Given the description of an element on the screen output the (x, y) to click on. 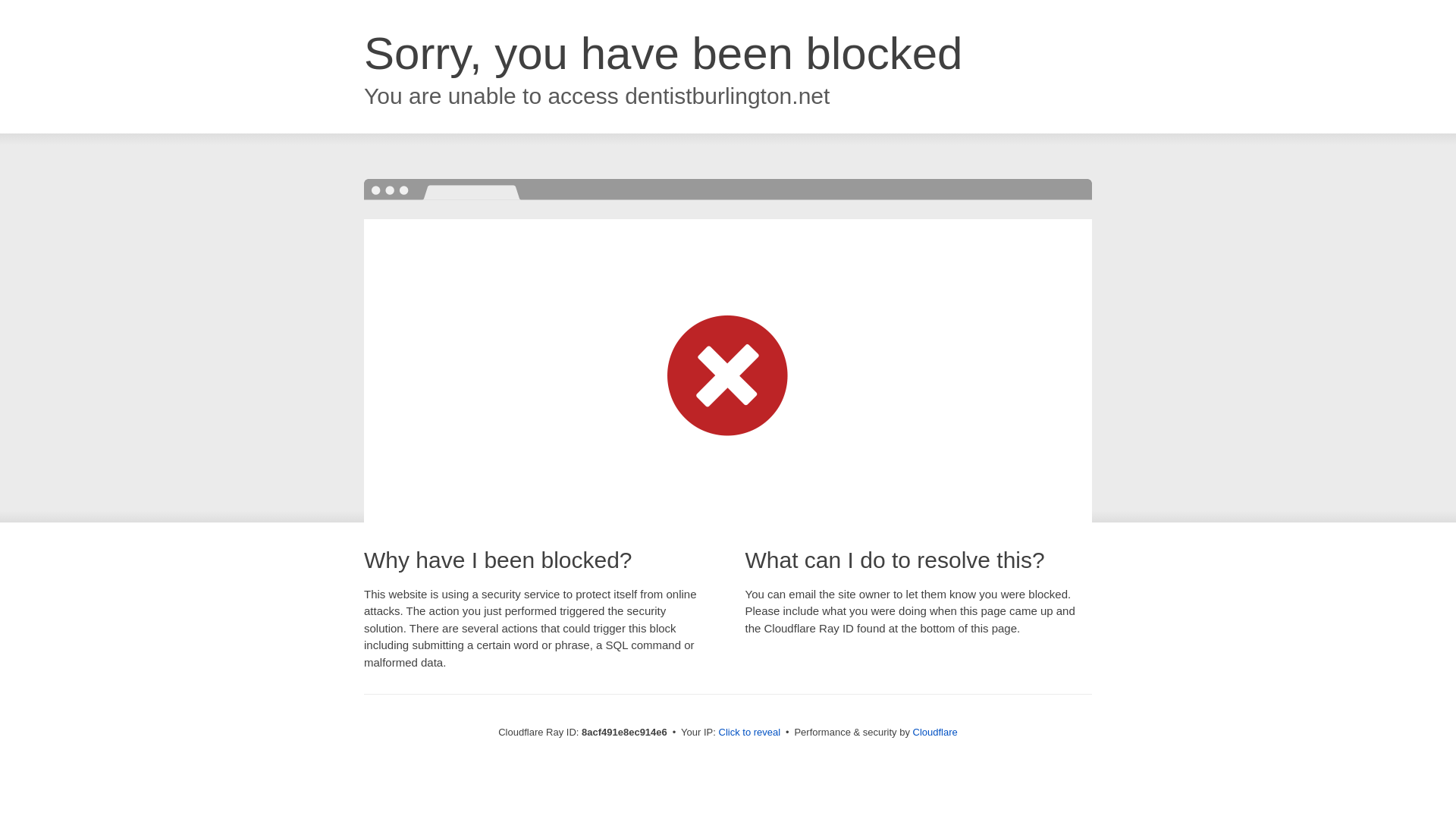
Click to reveal (749, 732)
Cloudflare (935, 731)
